Given the description of an element on the screen output the (x, y) to click on. 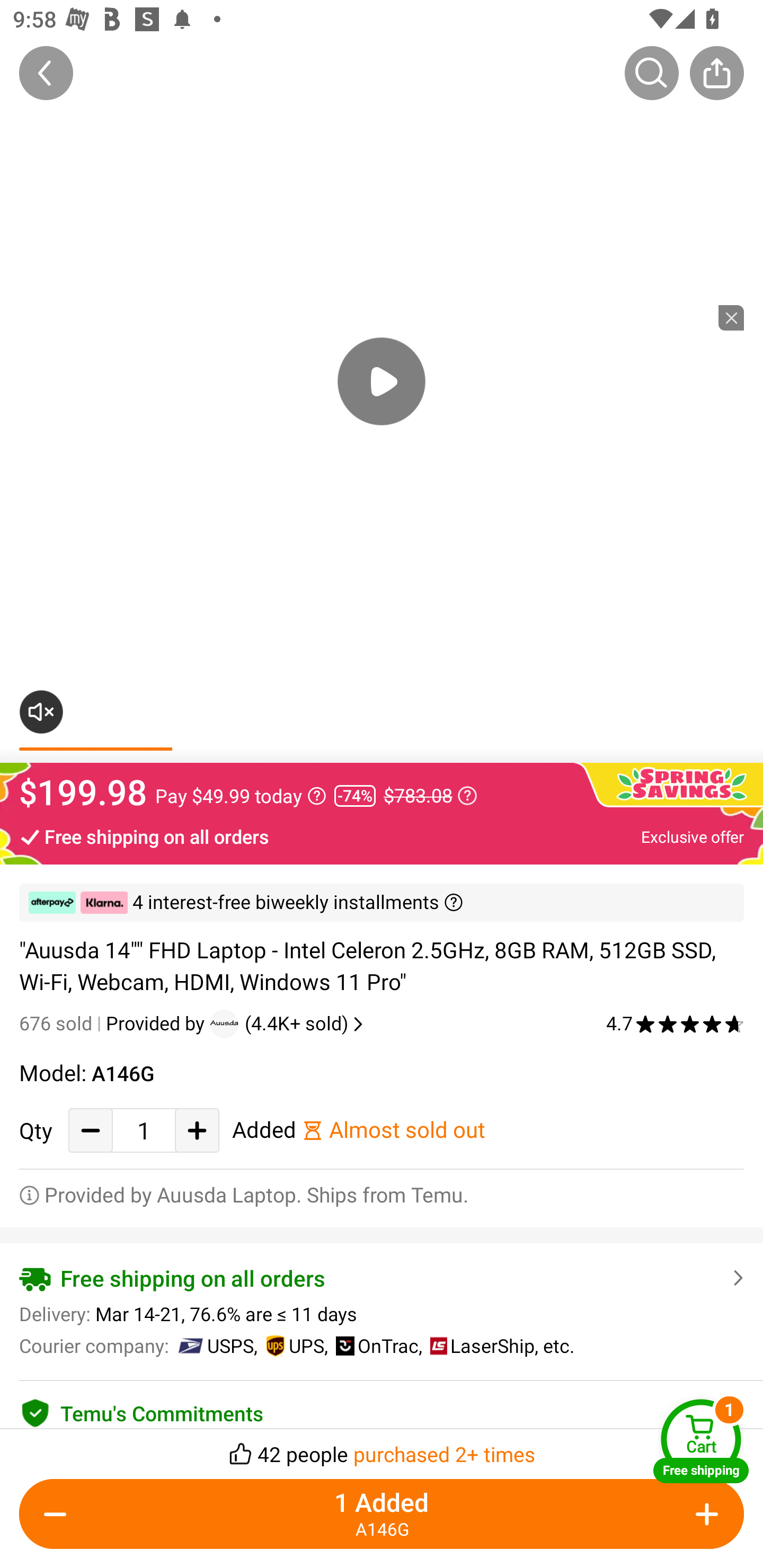
Back (46, 72)
Share (716, 72)
Pay $49.99 today   (240, 795)
Free shipping on all orders Exclusive offer (381, 836)
￼ ￼ 4 interest-free biweekly installments ￼ (381, 902)
676 sold Provided by  (114, 1023)
4.7 (674, 1023)
Decrease Quantity Button (90, 1130)
1 (143, 1130)
Add Quantity button (196, 1130)
Temu's Commitments (381, 1410)
Cart Free shipping Cart (701, 1440)
￼￼42 people purchased 2+ times (381, 1448)
Decrease Quantity Button (59, 1513)
Add Quantity button (703, 1513)
